Given the description of an element on the screen output the (x, y) to click on. 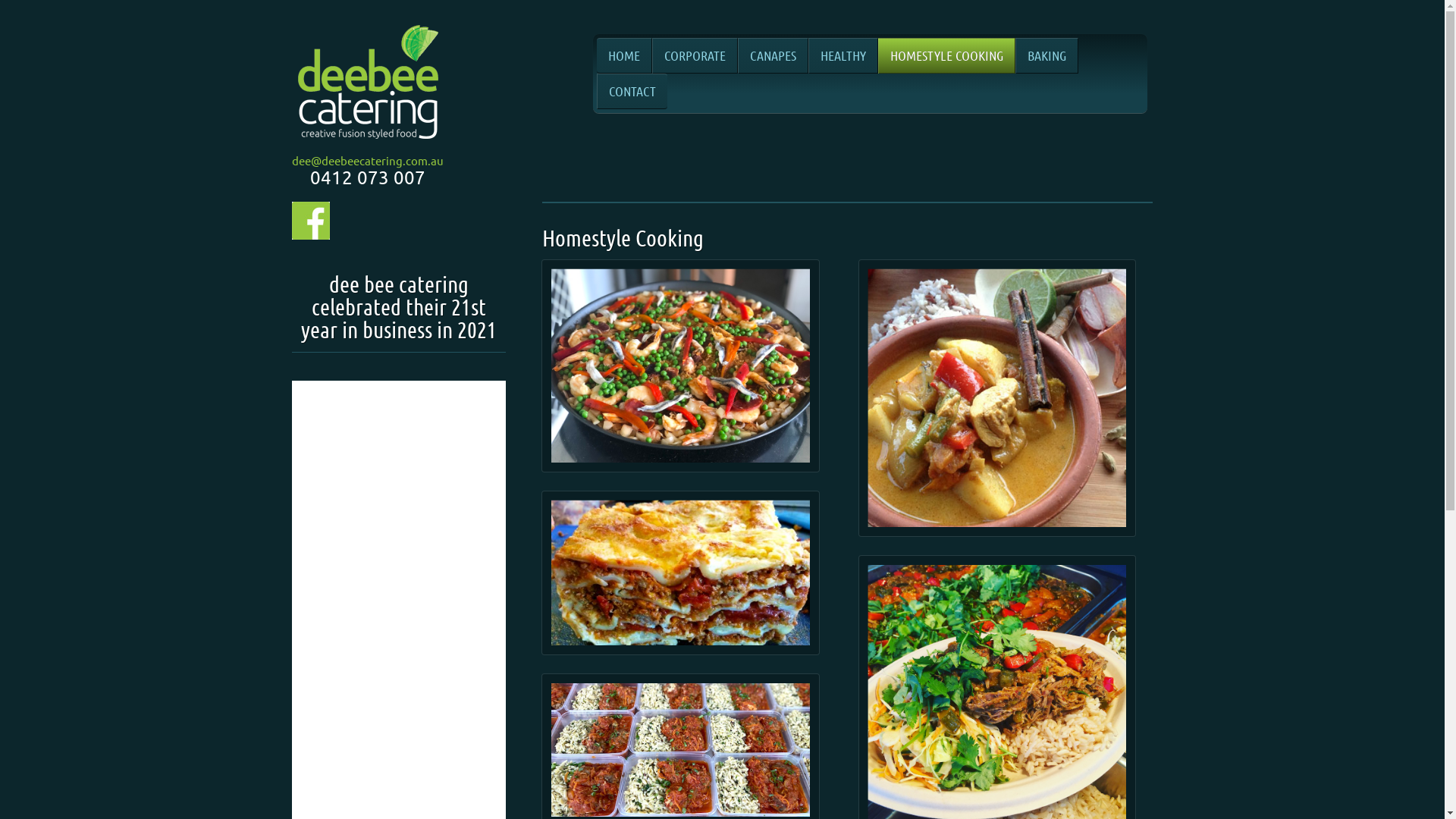
HEALTHY Element type: text (843, 55)
Creative Fusion Style Food Element type: hover (367, 142)
HOMESTYLE COOKING Element type: text (946, 55)
HOME Element type: text (624, 55)
CORPORATE Element type: text (694, 55)
BAKING Element type: text (1046, 55)
dee@deebeecatering.com.au Element type: text (367, 160)
CONTACT Element type: text (631, 91)
CANAPES Element type: text (772, 55)
